Given the description of an element on the screen output the (x, y) to click on. 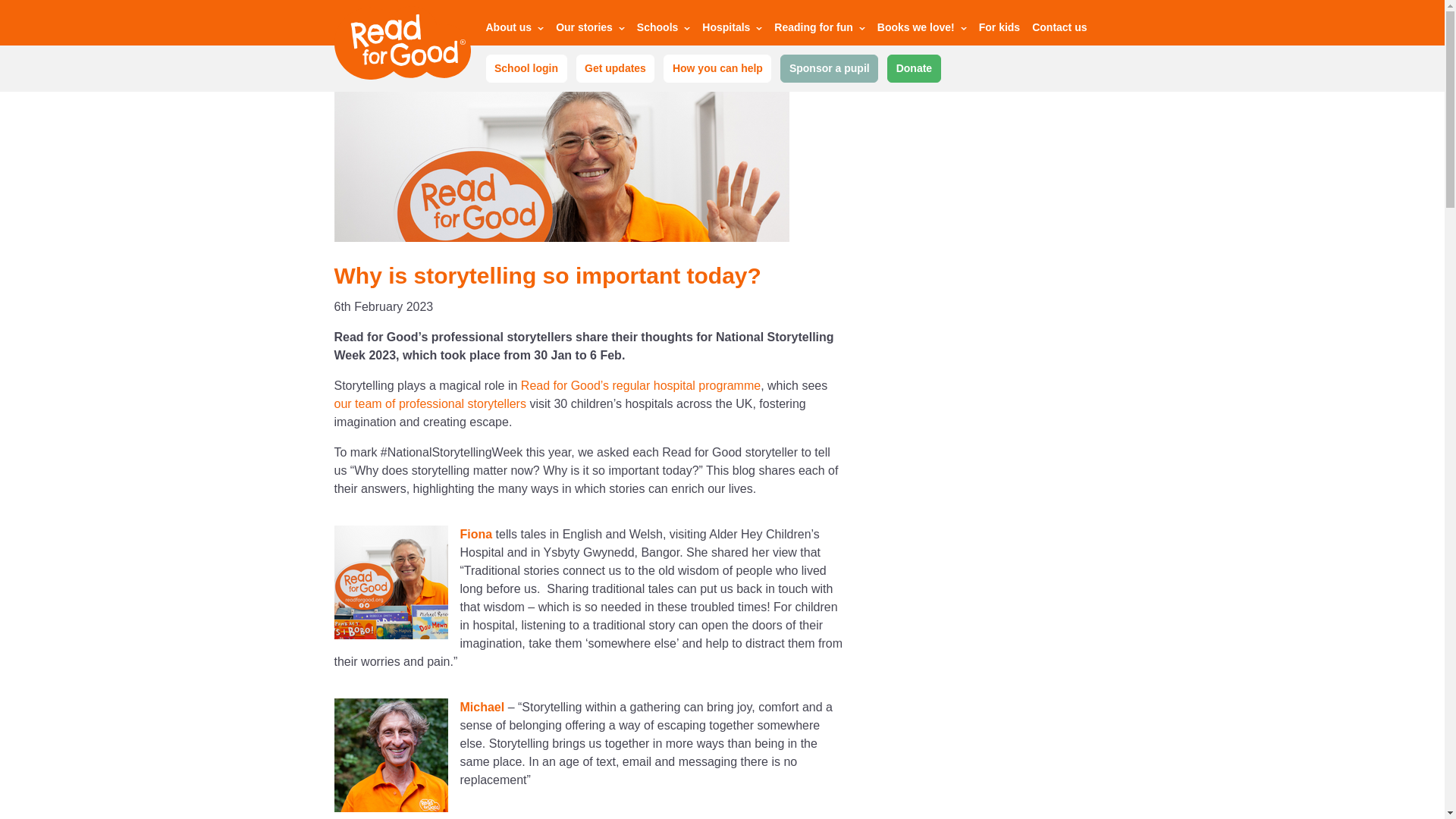
About us (513, 29)
Books we love! (921, 29)
Hospitals (731, 29)
Our stories (590, 29)
Reading for fun (819, 29)
Schools (663, 29)
